Given the description of an element on the screen output the (x, y) to click on. 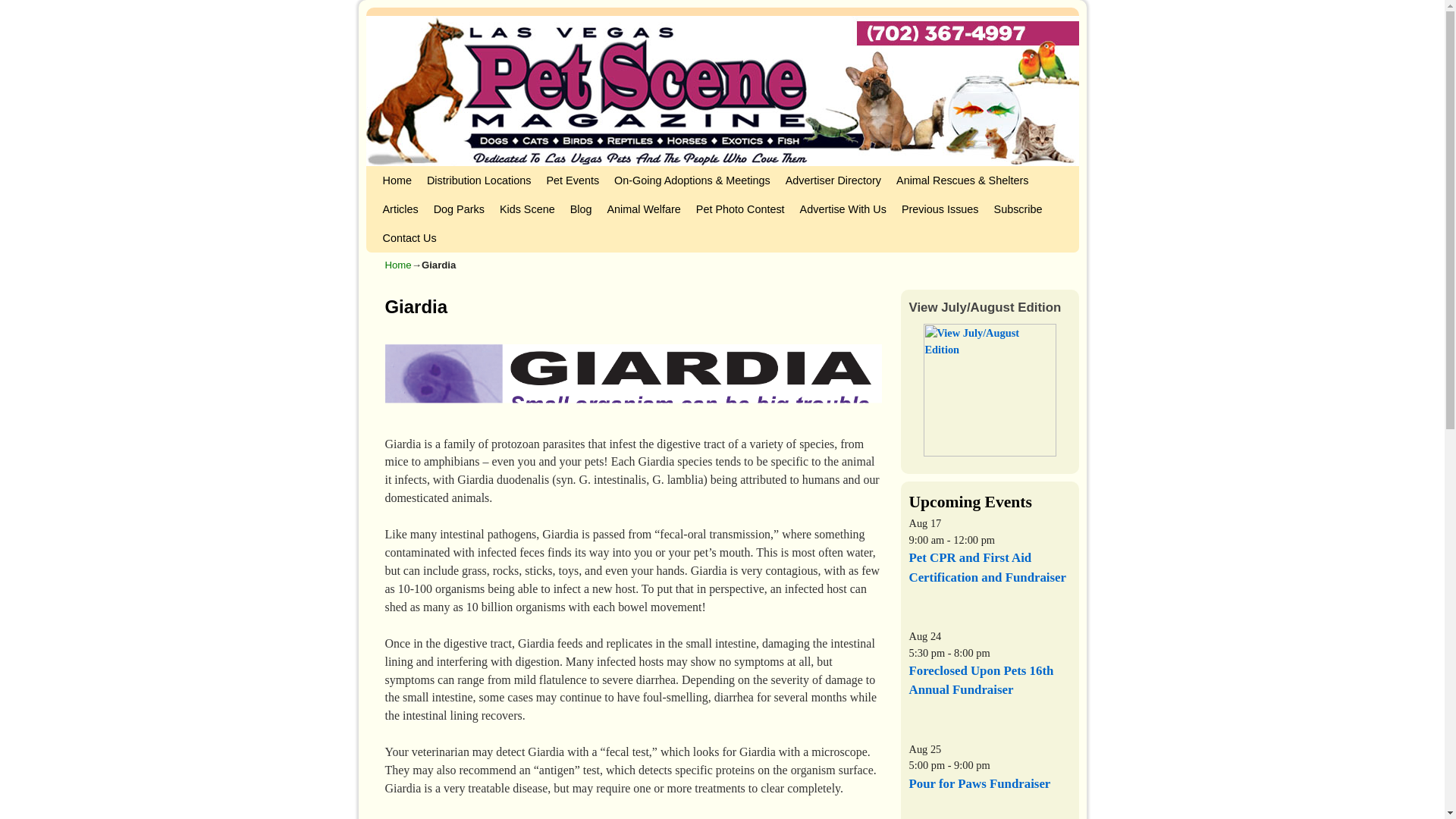
Advertiser Directory (832, 180)
Advertise With Us (842, 208)
Articles (399, 208)
Pet Events (572, 180)
Home (396, 180)
Skip to secondary content (412, 172)
Distribution Locations (478, 180)
Pet CPR and First Aid Certification and Fundraiser (986, 566)
Animal Welfare (642, 208)
Skip to primary content (408, 172)
